Given the description of an element on the screen output the (x, y) to click on. 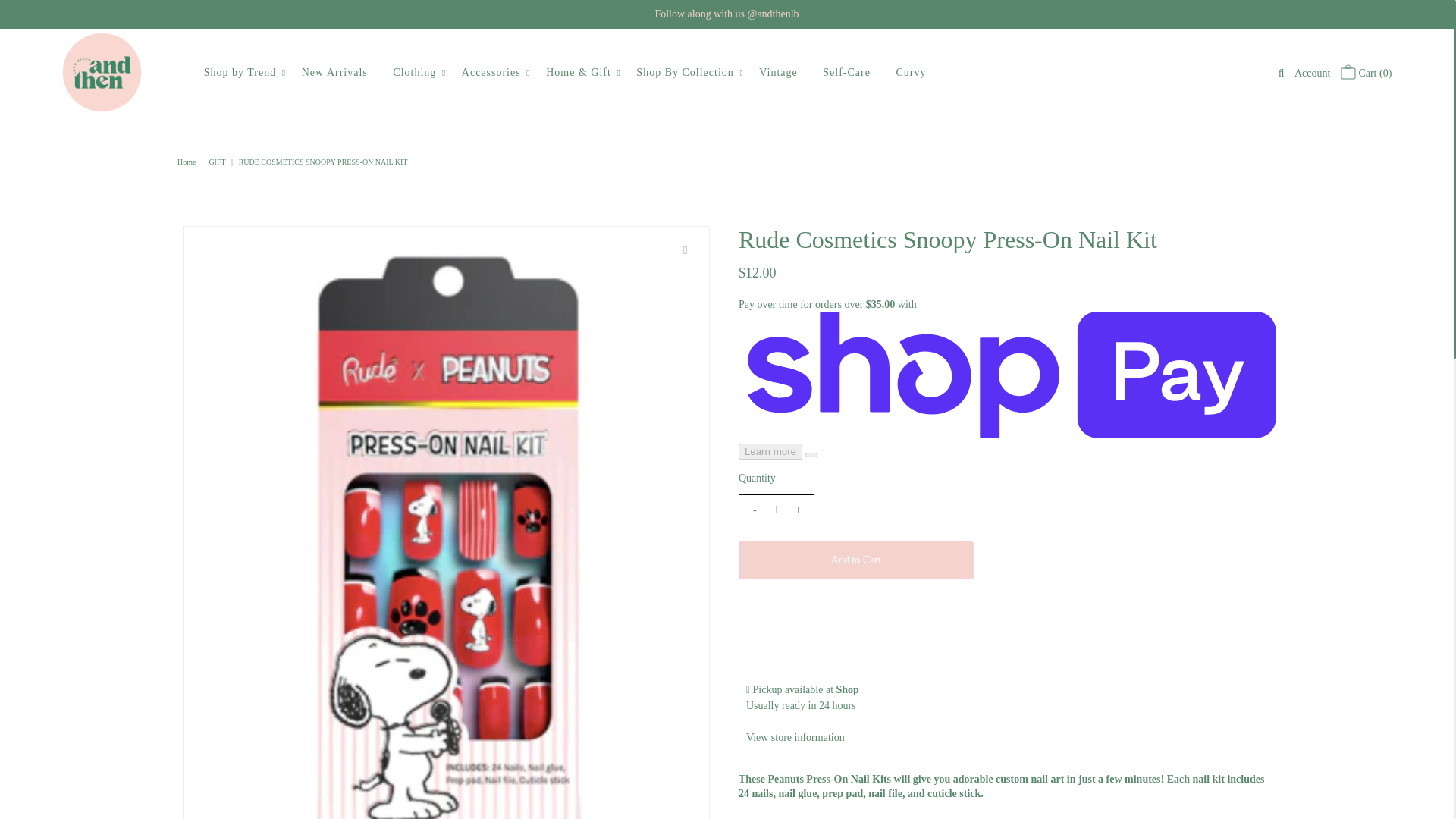
Shop by Trend (239, 72)
Home (188, 162)
Add to Cart (856, 560)
GIFT (218, 162)
New Arrivals (333, 72)
Clothing (413, 72)
